Given the description of an element on the screen output the (x, y) to click on. 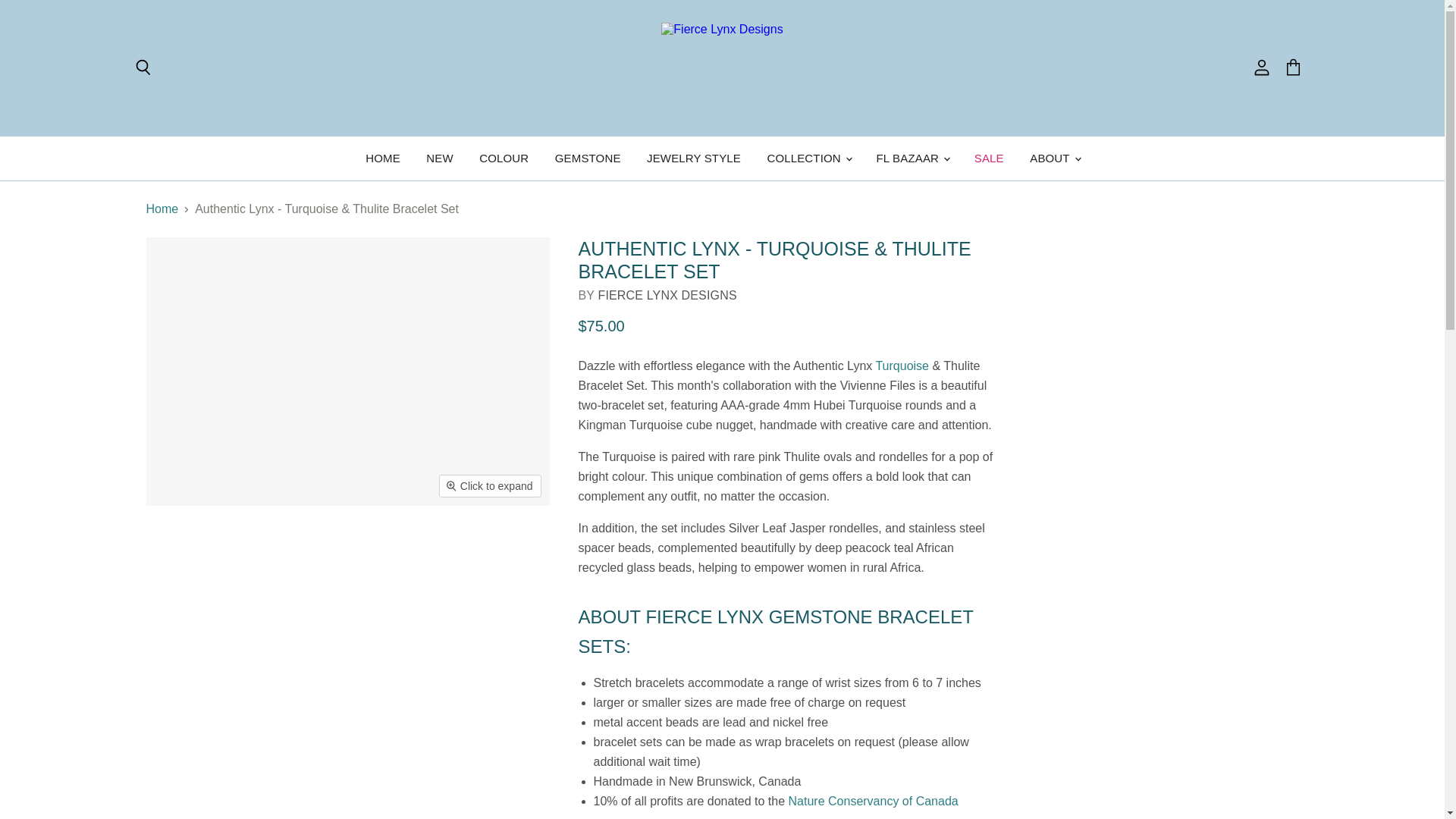
ABOUT (1053, 158)
JEWELRY STYLE (693, 158)
GEMSTONE (587, 158)
Fierce Lynx Designs (666, 295)
HOME (382, 158)
COLOUR (503, 158)
Search (141, 67)
SALE (988, 158)
FL BAZAAR (911, 158)
View account (1261, 67)
